Given the description of an element on the screen output the (x, y) to click on. 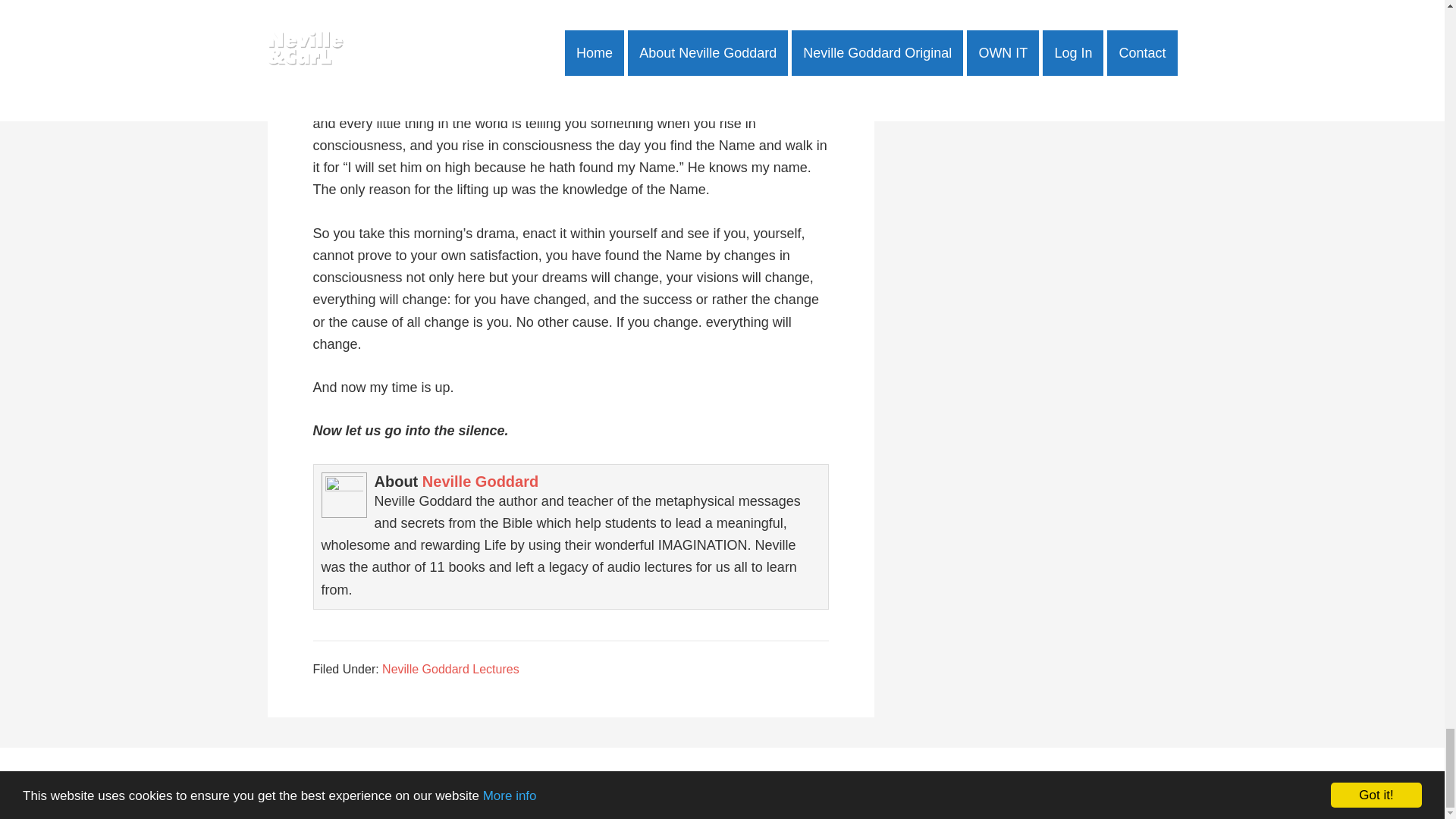
Privacy (900, 783)
Neville Goddard Now. Lectures, books, audio, mp3, pdf (692, 783)
Neville Goddard (480, 481)
Terms (937, 783)
Cookies (977, 783)
Disclaimer (852, 783)
Neville Goddard Lectures (450, 668)
